Given the description of an element on the screen output the (x, y) to click on. 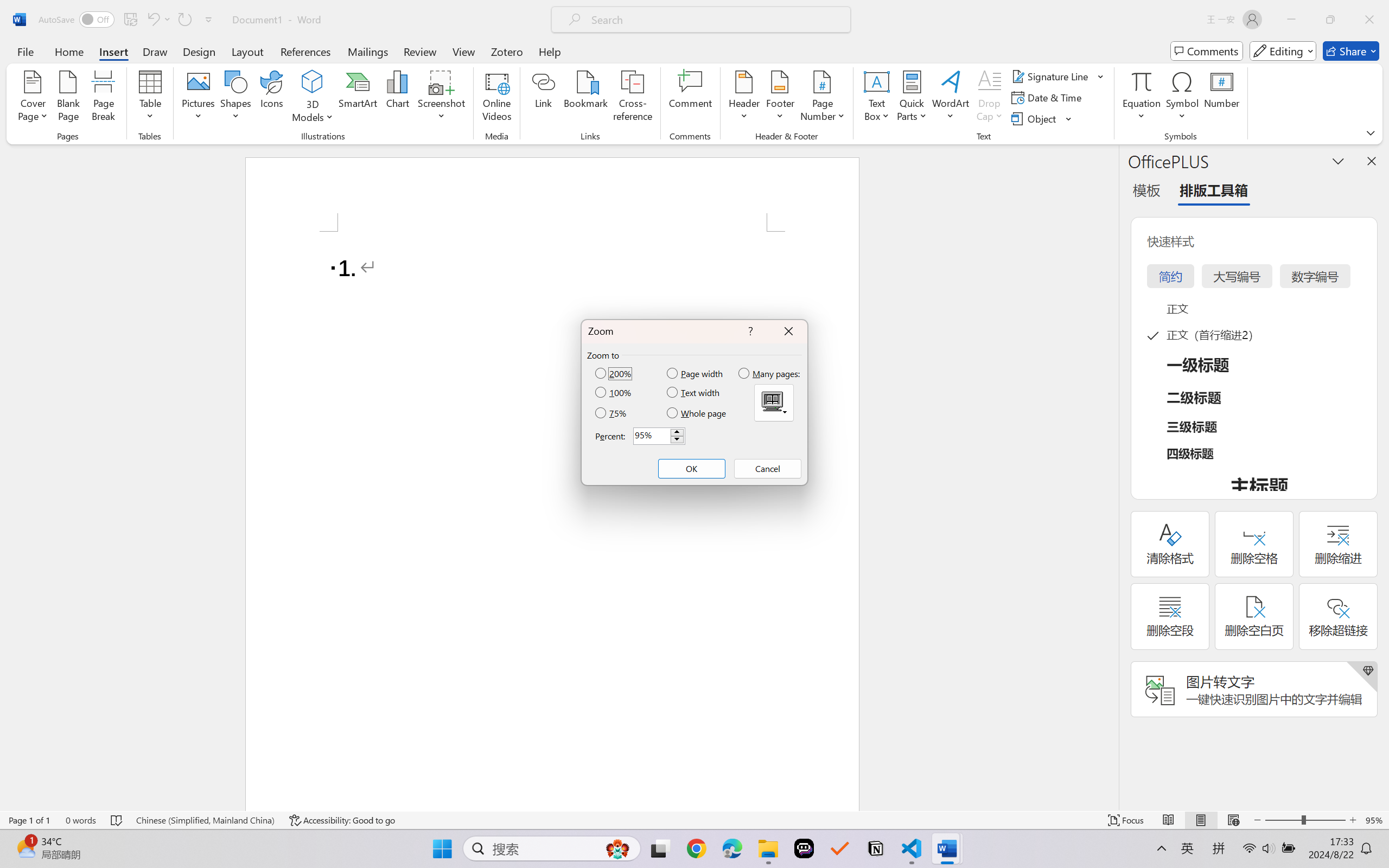
Chart... (396, 97)
Language Chinese (Simplified, Mainland China) (205, 819)
Signature Line (1051, 75)
Link (543, 97)
Text width (694, 392)
